Given the description of an element on the screen output the (x, y) to click on. 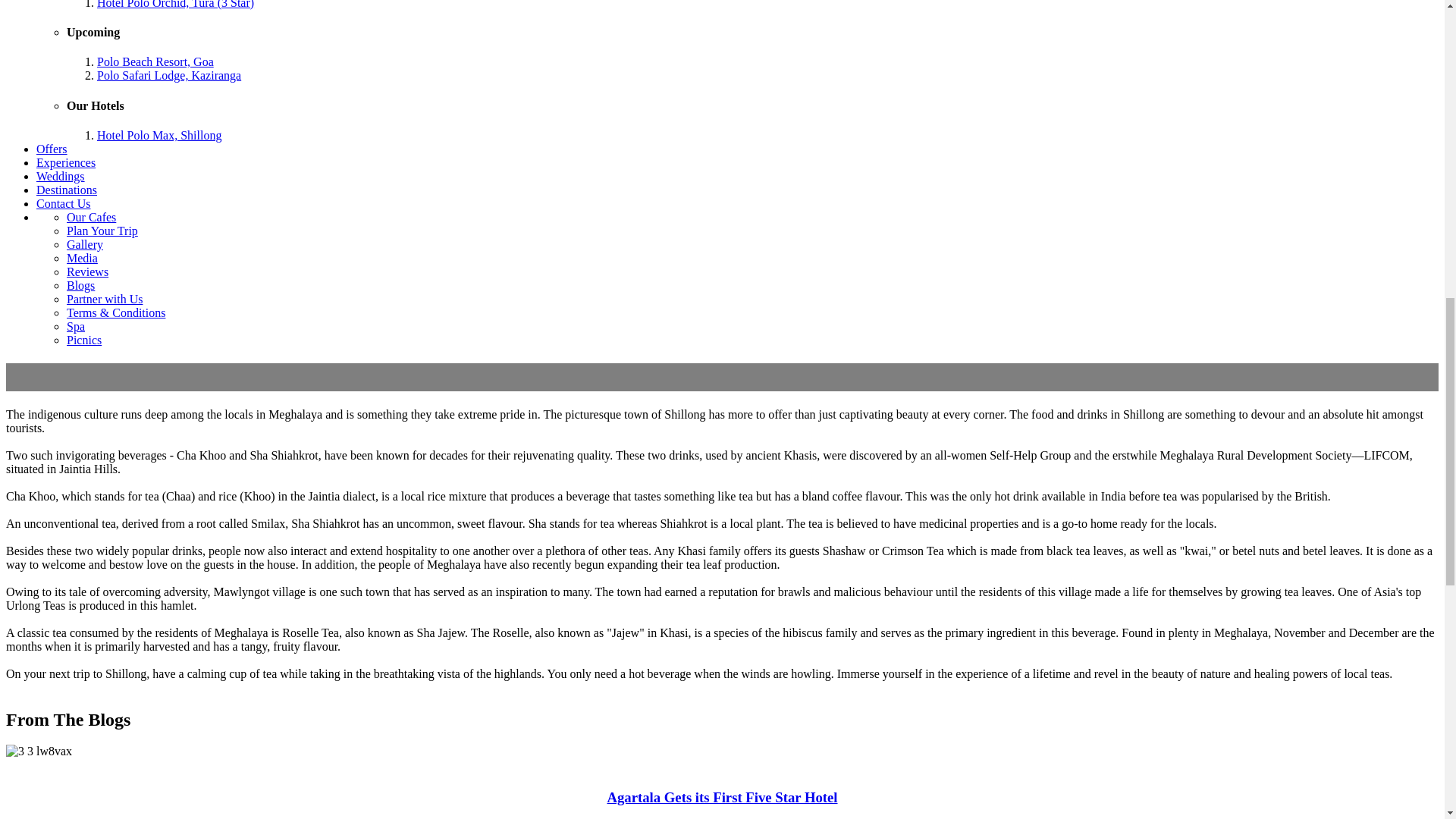
Hotel Polo Max, Shillong (159, 134)
Blogs (80, 285)
Partner with Us (104, 298)
Polo Beach Resort, Goa (155, 61)
Polo Safari Lodge, Kaziranga (169, 74)
Weddings (60, 175)
Reviews (86, 271)
Picnics (83, 339)
Experiences (66, 162)
Contact Us (63, 203)
Spa (75, 326)
Plan Your Trip (102, 230)
Our Cafes (91, 216)
Gallery (84, 244)
Destinations (66, 189)
